Given the description of an element on the screen output the (x, y) to click on. 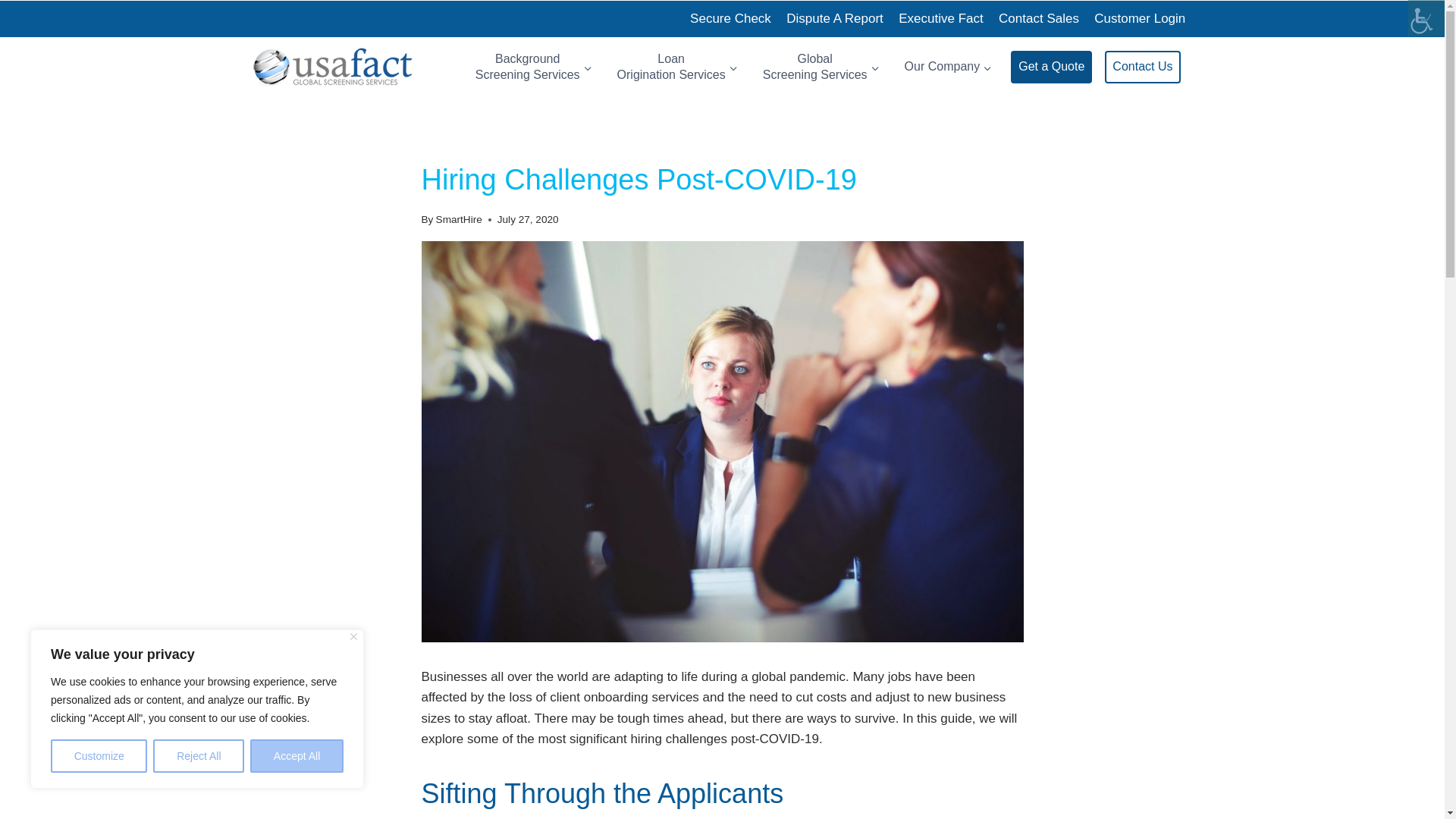
Accept All (296, 756)
Dispute A Report (834, 18)
Customize (98, 756)
Executive Fact (941, 18)
Contact Sales (1038, 18)
Customer Login (1139, 18)
Reject All (198, 756)
Secure Check (533, 66)
